Given the description of an element on the screen output the (x, y) to click on. 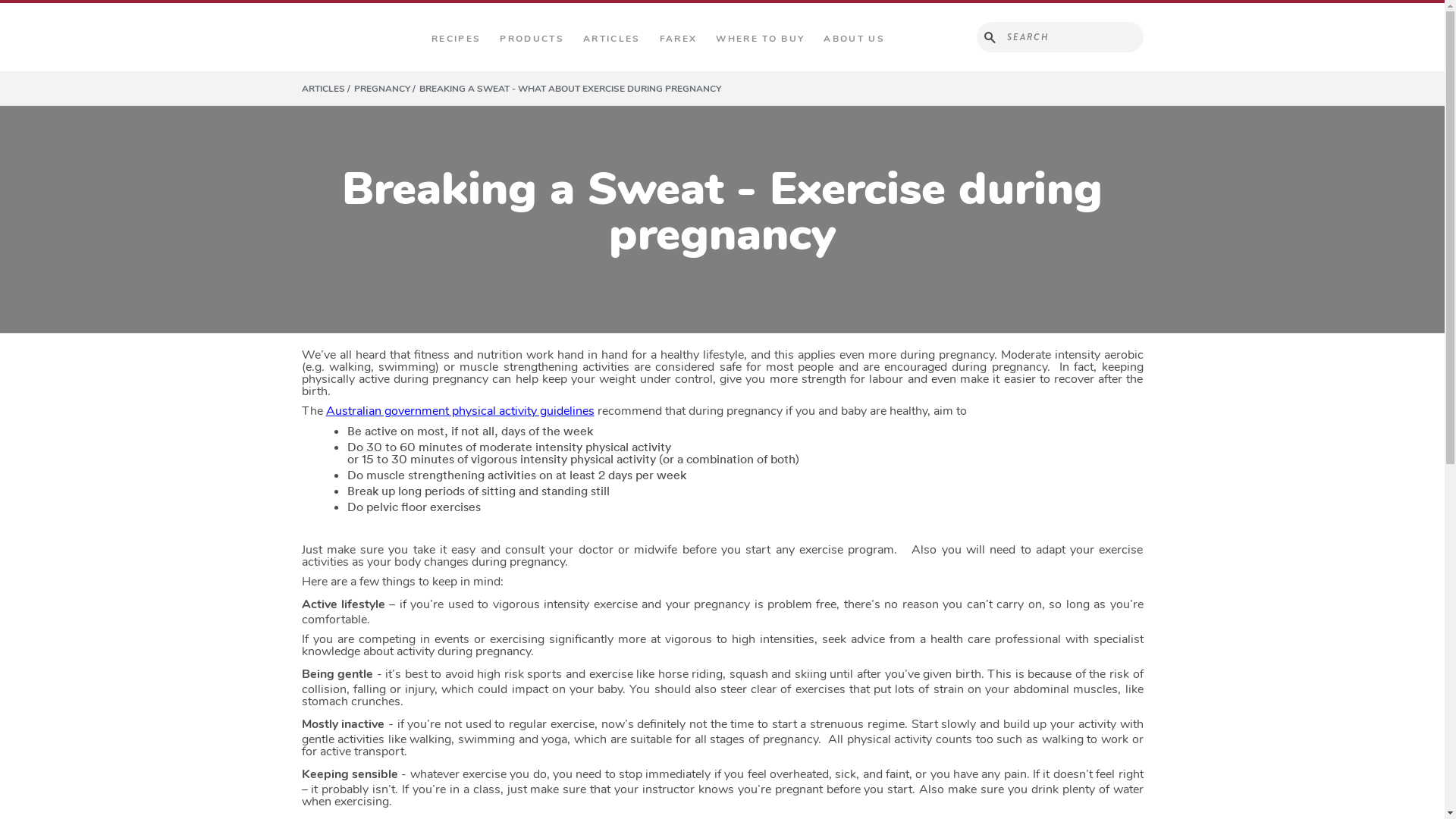
BREAKING A SWEAT - WHAT ABOUT EXERCISE DURING PREGNANCY Element type: text (569, 87)
ARTICLES Element type: text (611, 38)
PRODUCTS Element type: text (531, 38)
Australian government physical activity guidelines Element type: text (460, 409)
ABOUT US Element type: text (853, 38)
ARTICLES Element type: text (327, 87)
WHERE TO BUY Element type: text (760, 38)
PREGNANCY Element type: text (385, 87)
RECIPES Element type: text (455, 38)
FAREX Element type: text (678, 38)
